Given the description of an element on the screen output the (x, y) to click on. 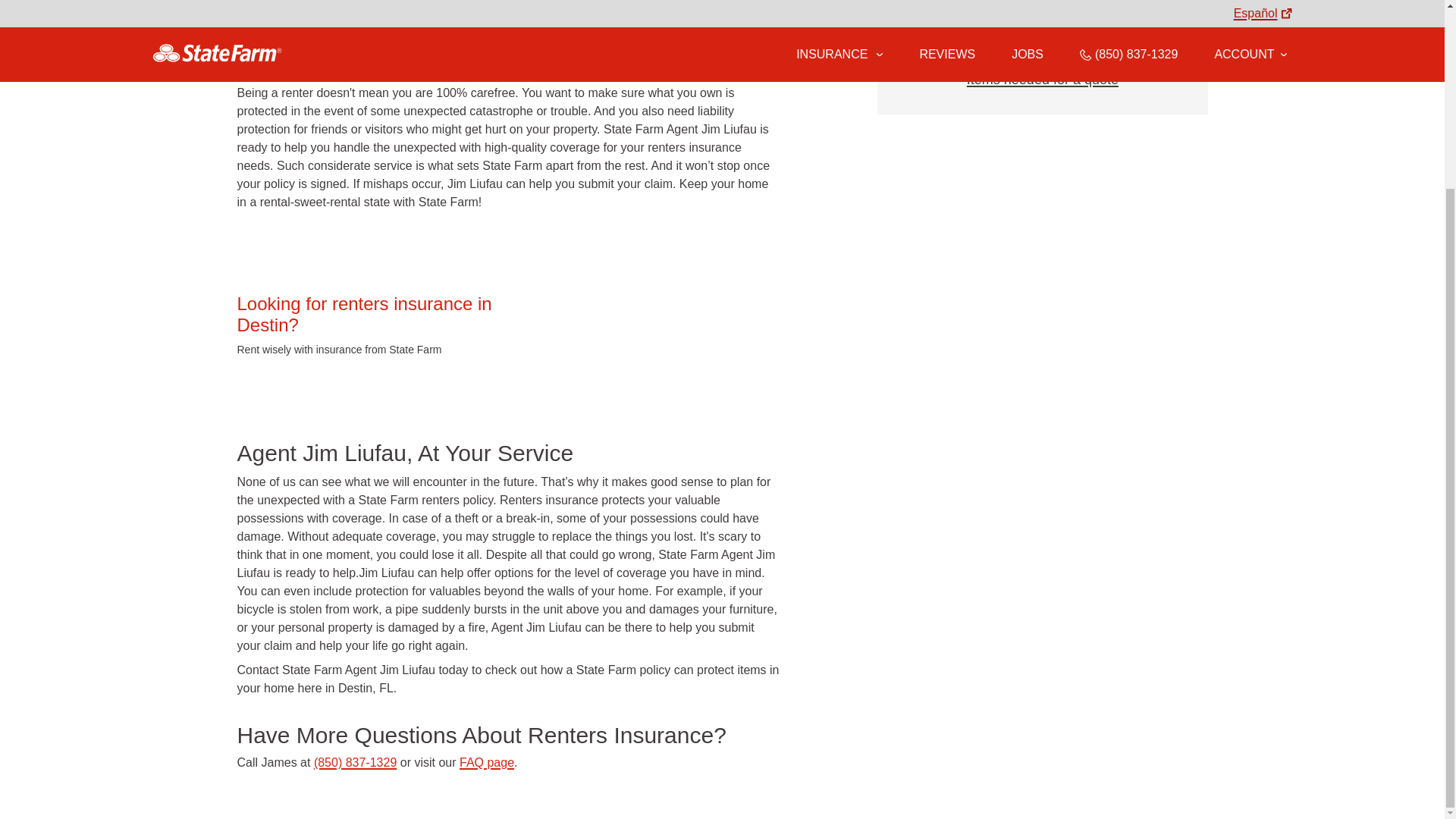
FAQ page (486, 762)
